Given the description of an element on the screen output the (x, y) to click on. 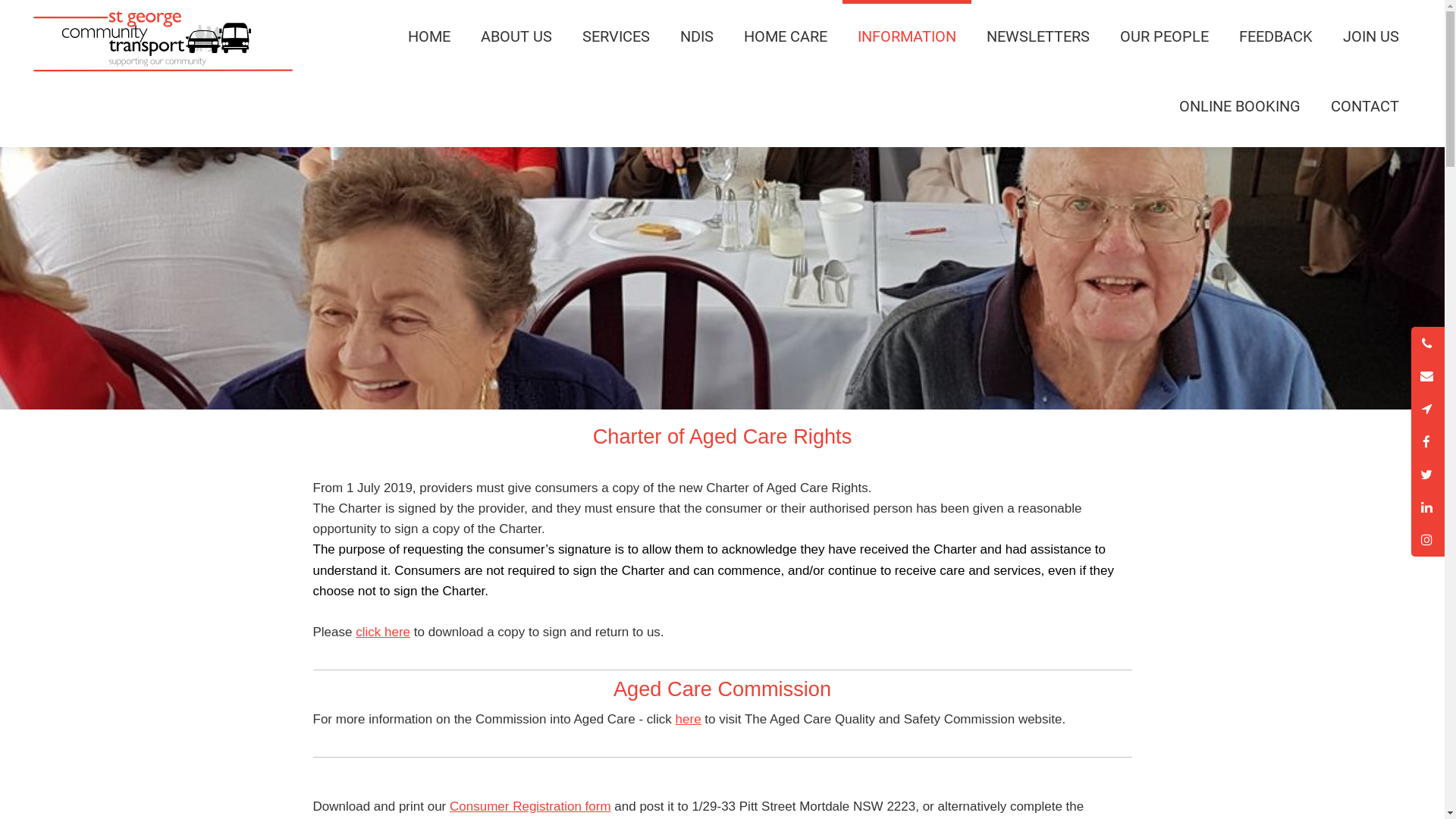
JOIN US Element type: text (1370, 34)
here Element type: text (688, 719)
FEEDBACK Element type: text (1275, 34)
CONTACT Element type: text (1364, 104)
ONLINE BOOKING Element type: text (1239, 104)
NEWSLETTERS Element type: text (1037, 34)
click here Element type: text (382, 631)
INFORMATION Element type: text (906, 34)
ABOUT US Element type: text (516, 34)
Consumer Registration form Element type: text (530, 806)
HOME CARE Element type: text (785, 34)
SERVICES Element type: text (616, 34)
NDIS Element type: text (696, 34)
OUR PEOPLE Element type: text (1163, 34)
HOME Element type: text (428, 34)
